Given the description of an element on the screen output the (x, y) to click on. 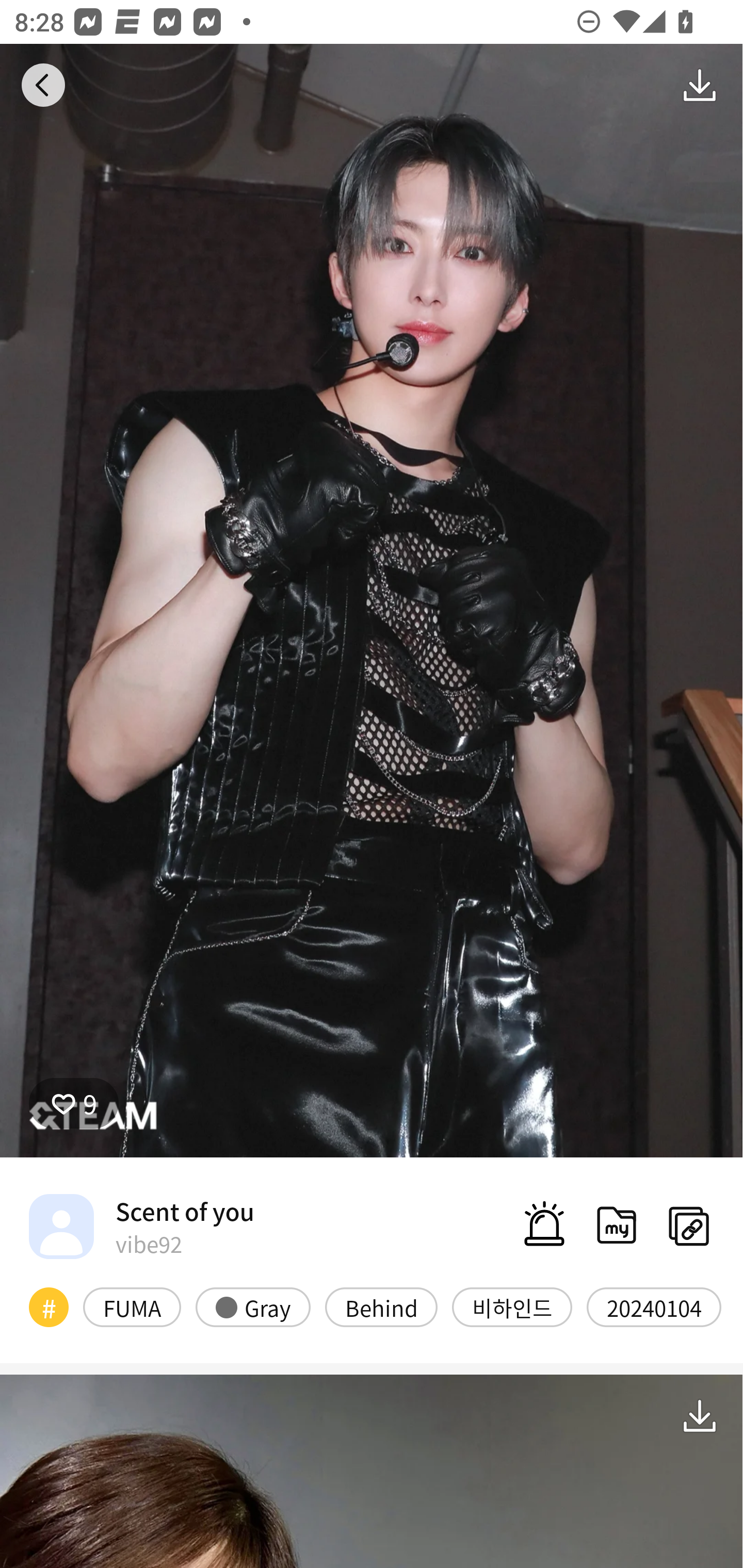
9 (73, 1102)
Scent of you vibe92 (141, 1226)
FUMA (132, 1306)
Gray (252, 1306)
Behind (381, 1306)
비하인드 (511, 1306)
20240104 (653, 1306)
